Given the description of an element on the screen output the (x, y) to click on. 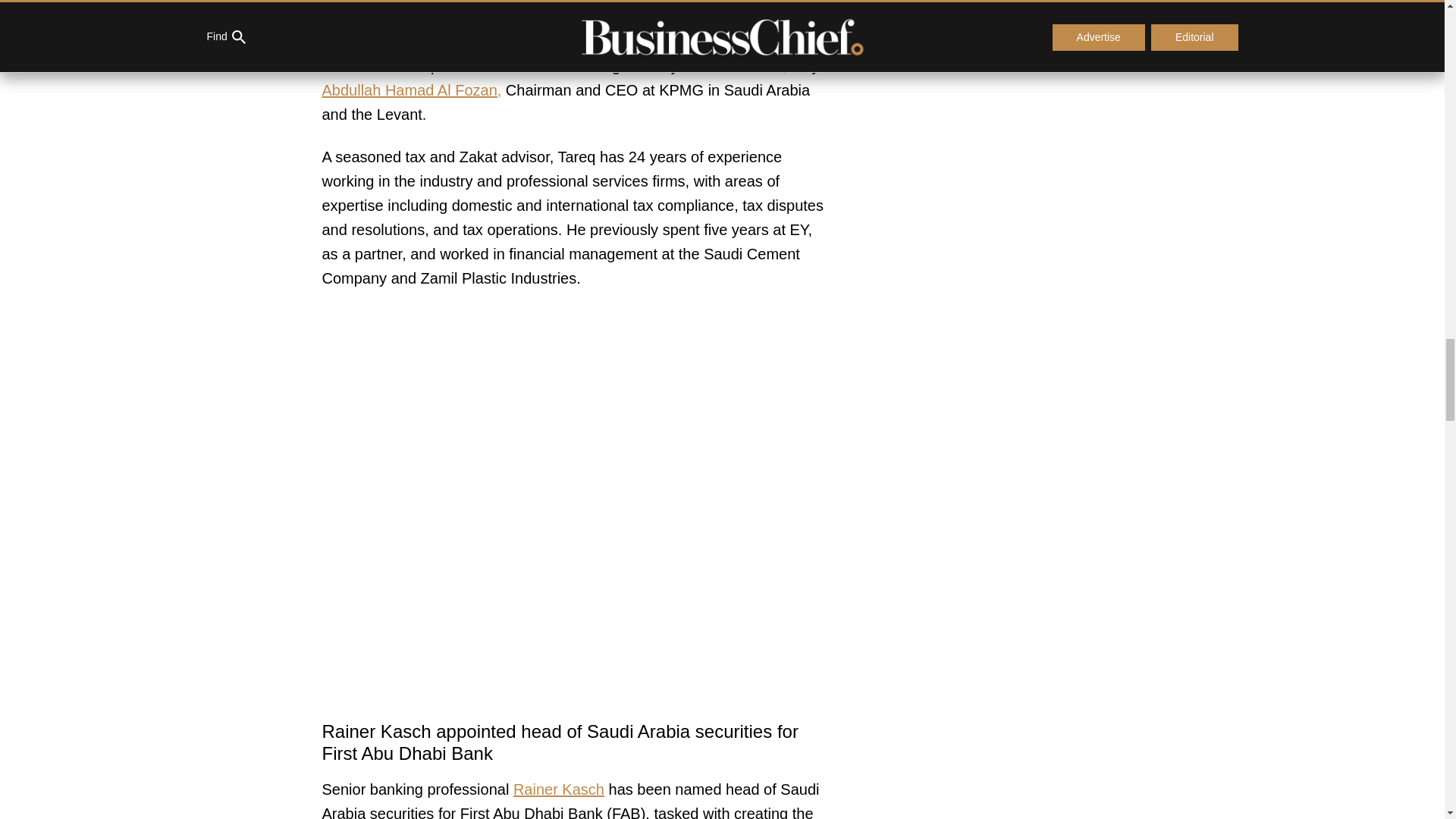
Abdullah Hamad Al Fozan, (410, 89)
Rainer Kasch (558, 789)
